Given the description of an element on the screen output the (x, y) to click on. 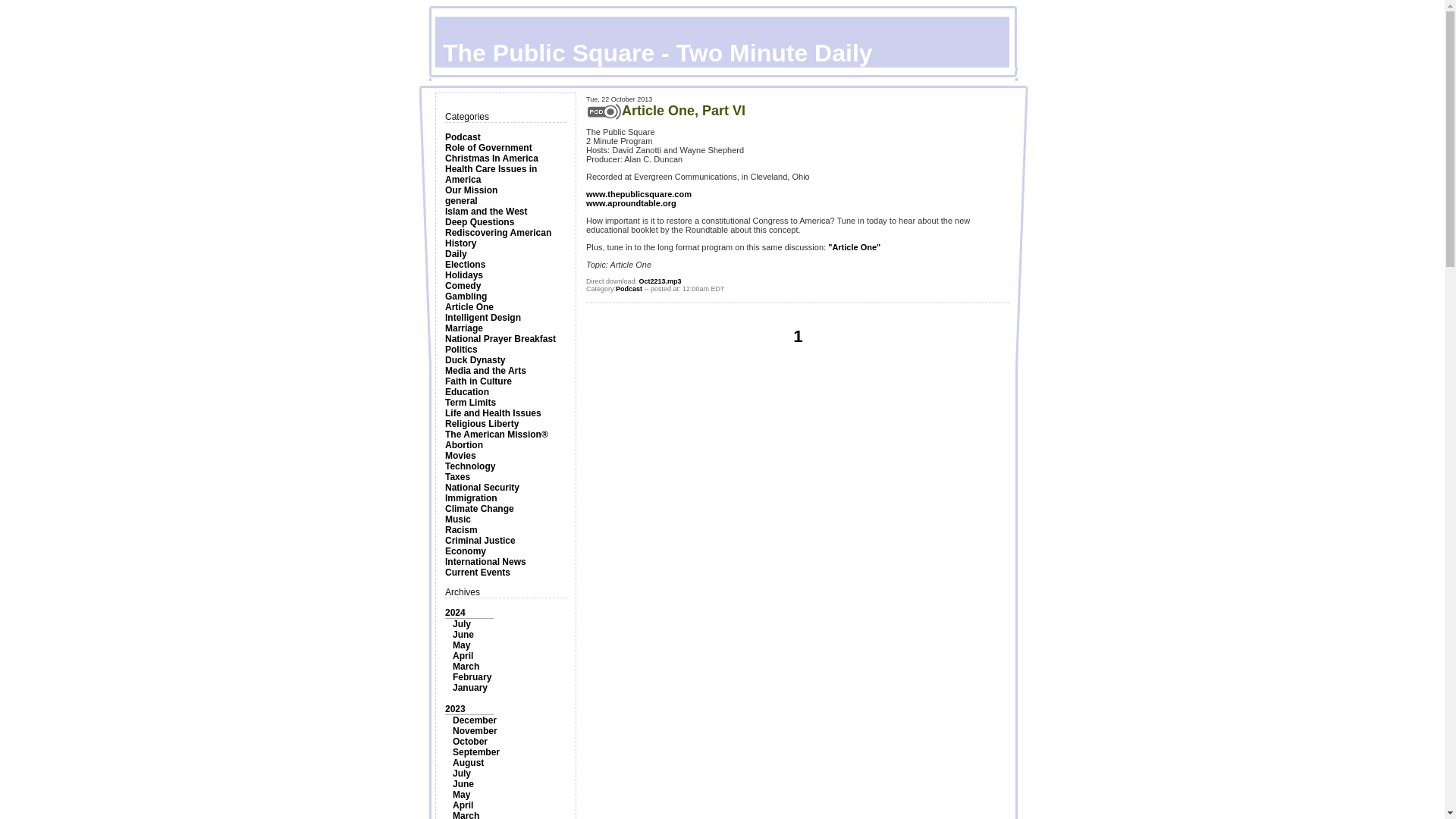
Movies (460, 455)
International News (485, 561)
Holidays (464, 275)
Intelligent Design (483, 317)
Article One (469, 307)
Abortion (464, 444)
Rediscovering American History (498, 237)
Islam and the West (486, 211)
Gambling (465, 296)
Podcast (462, 136)
Current Events (478, 572)
Health Care Issues in America (491, 174)
general (461, 200)
Climate Change (479, 508)
Immigration (471, 498)
